Given the description of an element on the screen output the (x, y) to click on. 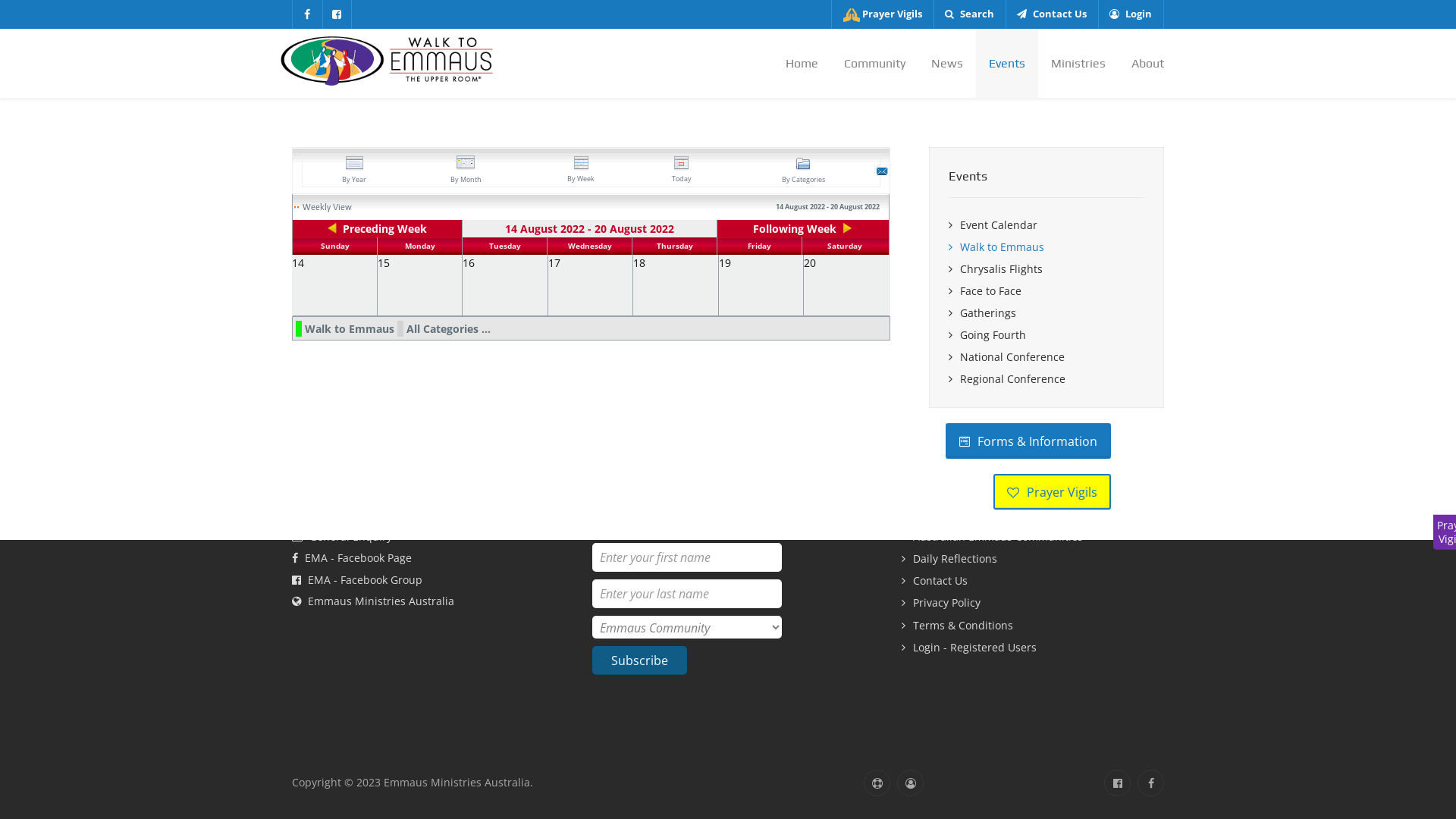
Contact Us Element type: text (1032, 580)
Emmaus Ministries Australia Element type: text (372, 600)
Contact the National webmaster Element type: hover (876, 782)
About Element type: text (1141, 62)
EMA Facebook Group Element type: hover (336, 14)
Following Week Element type: text (802, 228)
Today Element type: text (681, 169)
Home Element type: text (801, 62)
Events Element type: text (1006, 62)
Regional Conference Element type: text (1046, 379)
Prayer Vigils Element type: text (882, 14)
By Week Element type: text (580, 169)
EMA Facebook - Group Element type: hover (1117, 782)
17 Element type: text (554, 262)
Gatherings Element type: text (1046, 313)
Emmaus Ministries Australia Element type: hover (386, 59)
Search Element type: text (969, 14)
Chrysalis Flights Element type: text (1046, 269)
16 Element type: text (468, 262)
Preceding Week Element type: text (376, 228)
Walk to Emmaus Element type: text (349, 328)
15 Element type: text (383, 262)
Australian Emmaus Communities Element type: text (1032, 537)
Contact Us Element type: text (1051, 14)
18 Element type: text (639, 262)
Face to Face Element type: text (1046, 291)
Going Fourth Element type: text (1046, 335)
EMAIL Element type: hover (883, 172)
Prayer Vigils Element type: text (1032, 515)
Login - Registered Users Element type: text (1032, 647)
General Enquiry Element type: text (341, 536)
By Month Element type: text (465, 170)
By Year Element type: text (354, 170)
Terms & Conditions Element type: text (1032, 625)
Forms & Information Element type: text (1027, 440)
Daily Reflections Element type: text (1032, 558)
Event Calendar Element type: text (1046, 225)
Login - Registered Users Element type: hover (910, 782)
Privacy Policy Element type: text (1032, 602)
Community Element type: text (874, 62)
News Element type: text (946, 62)
14 Element type: text (297, 262)
All Categories ... Element type: text (448, 328)
EMA - Facebook Page Element type: text (351, 557)
By Categories Element type: text (803, 170)
Ministries Element type: text (1078, 62)
Login Element type: text (1130, 14)
Prayer Vigils Element type: text (1051, 491)
EMA Facebook Page Element type: hover (307, 14)
EMA Facebook - Page Element type: hover (1150, 782)
National Conference Element type: text (1046, 357)
Subscribe Element type: text (639, 660)
Walk to Emmaus Element type: text (1046, 247)
20 Element type: text (809, 262)
19 Element type: text (724, 262)
EMA - Facebook Group Element type: text (356, 579)
